Given the description of an element on the screen output the (x, y) to click on. 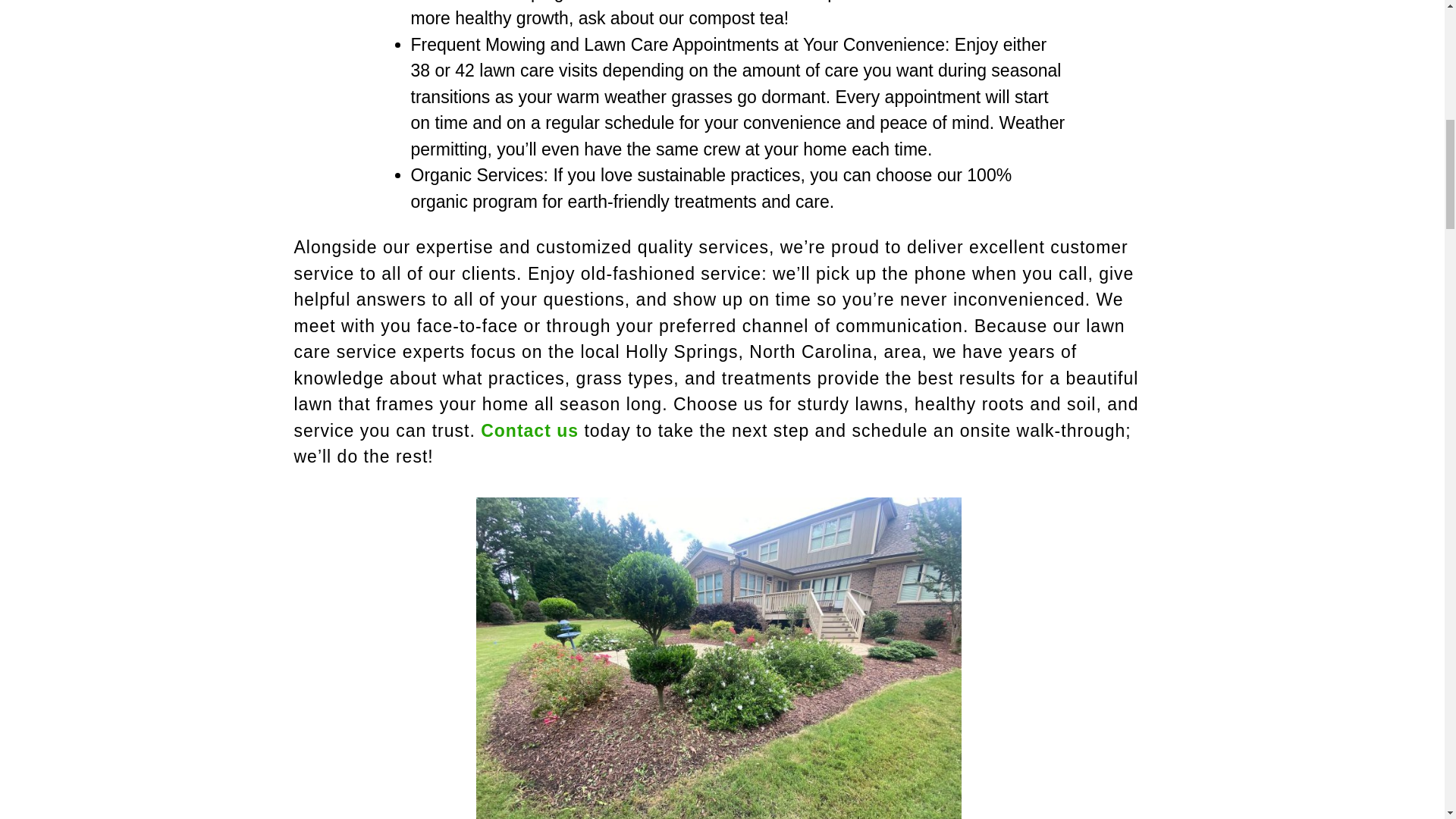
Contact us (529, 430)
